Given the description of an element on the screen output the (x, y) to click on. 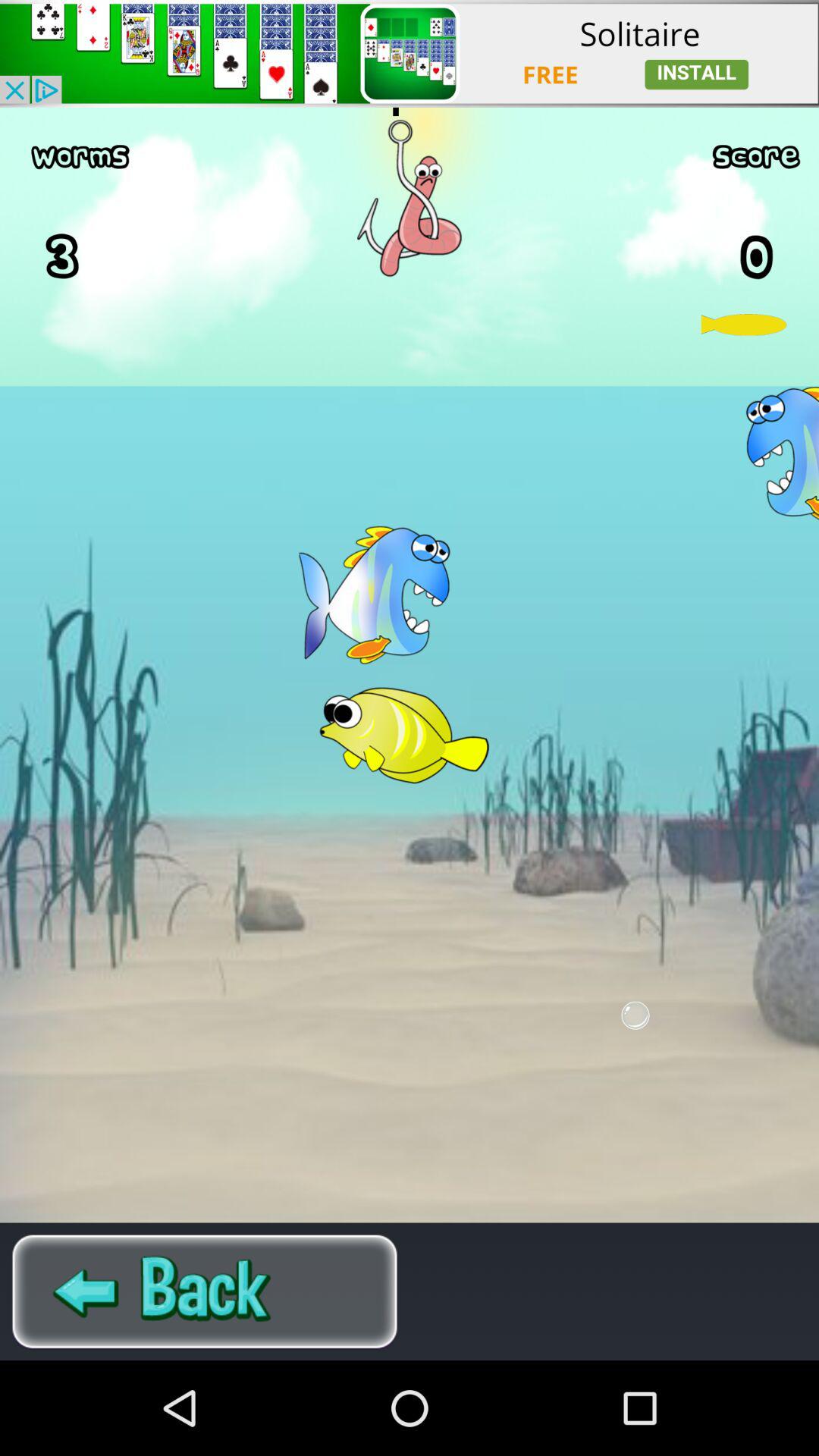
open advertisement (409, 53)
